Given the description of an element on the screen output the (x, y) to click on. 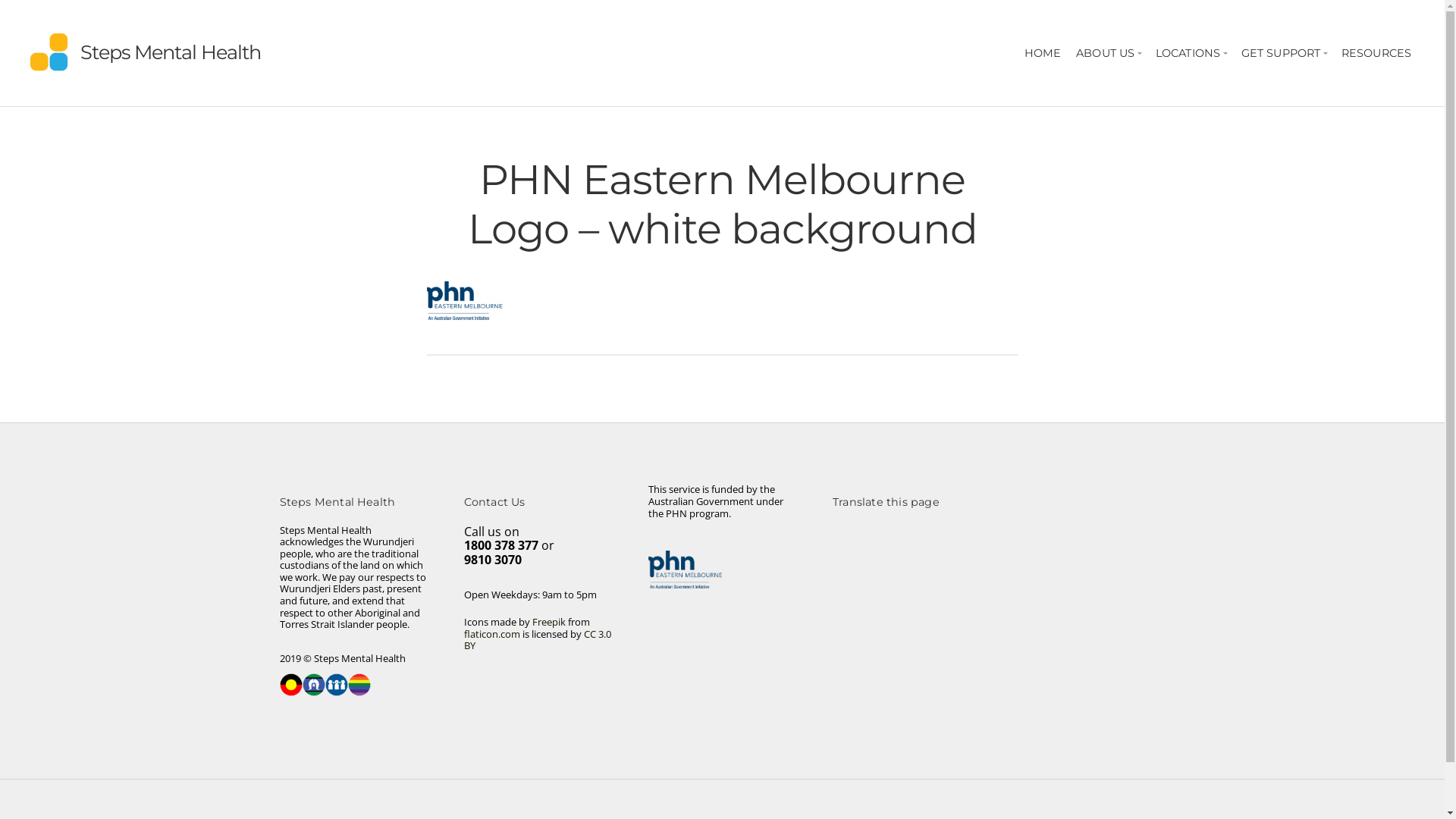
CC 3.0 BY Element type: text (537, 639)
ABOUT US Element type: text (1108, 52)
LOCATIONS Element type: text (1190, 52)
RESOURCES Element type: text (1376, 52)
GET SUPPORT Element type: text (1283, 52)
HOME Element type: text (1042, 52)
Steps Mental Health Element type: text (170, 51)
flaticon.com Element type: text (492, 633)
Freepik Element type: text (548, 621)
